Given the description of an element on the screen output the (x, y) to click on. 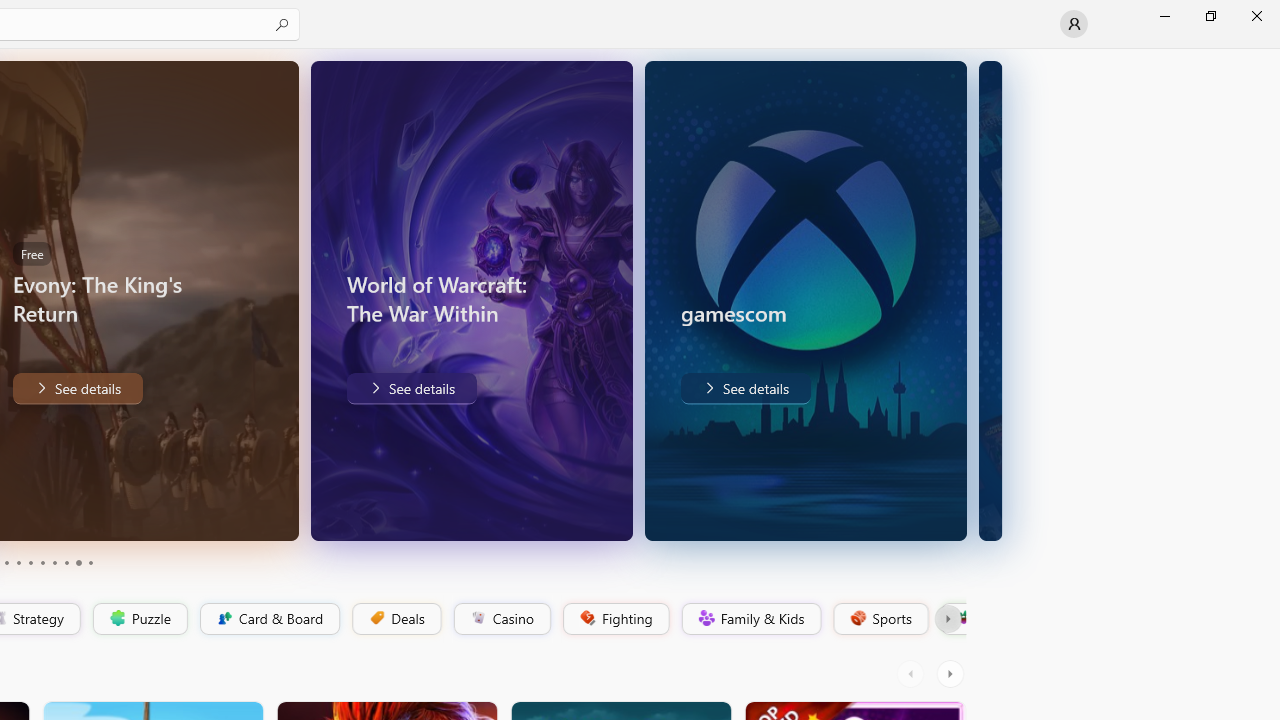
Class: Button (947, 619)
Family & Kids (750, 619)
gamescom. See the best of the show.  . See details (744, 387)
Card & Board (268, 619)
Restore Microsoft Store (1210, 15)
AutomationID: Image (989, 300)
Page 10 (90, 562)
AutomationID: RightScrollButton (952, 673)
Page 7 (54, 562)
Fighting (614, 619)
Unmute (269, 512)
Page 6 (41, 562)
Class: Image (961, 617)
